Given the description of an element on the screen output the (x, y) to click on. 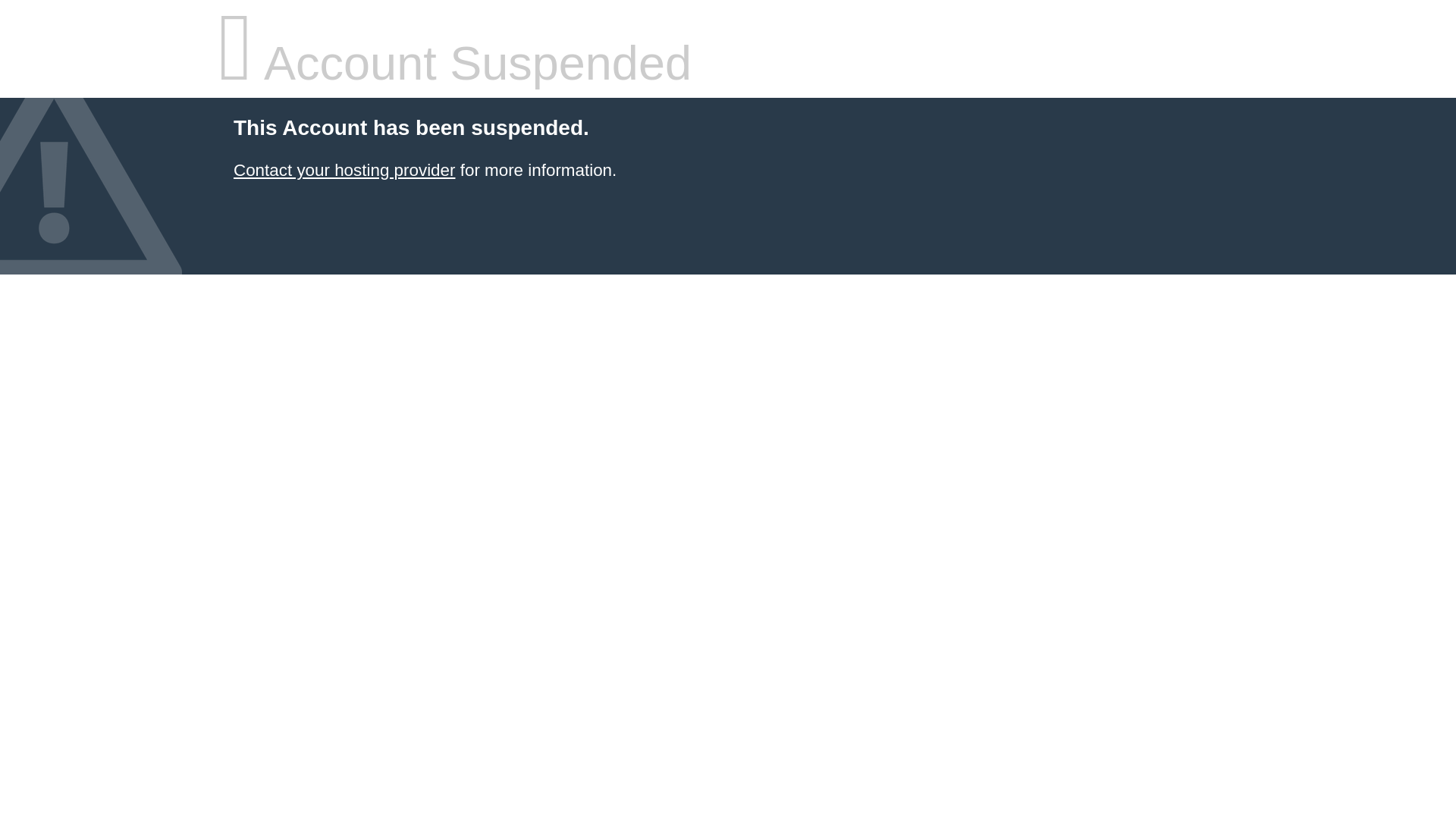
Contact your hosting provider (343, 169)
